Given the description of an element on the screen output the (x, y) to click on. 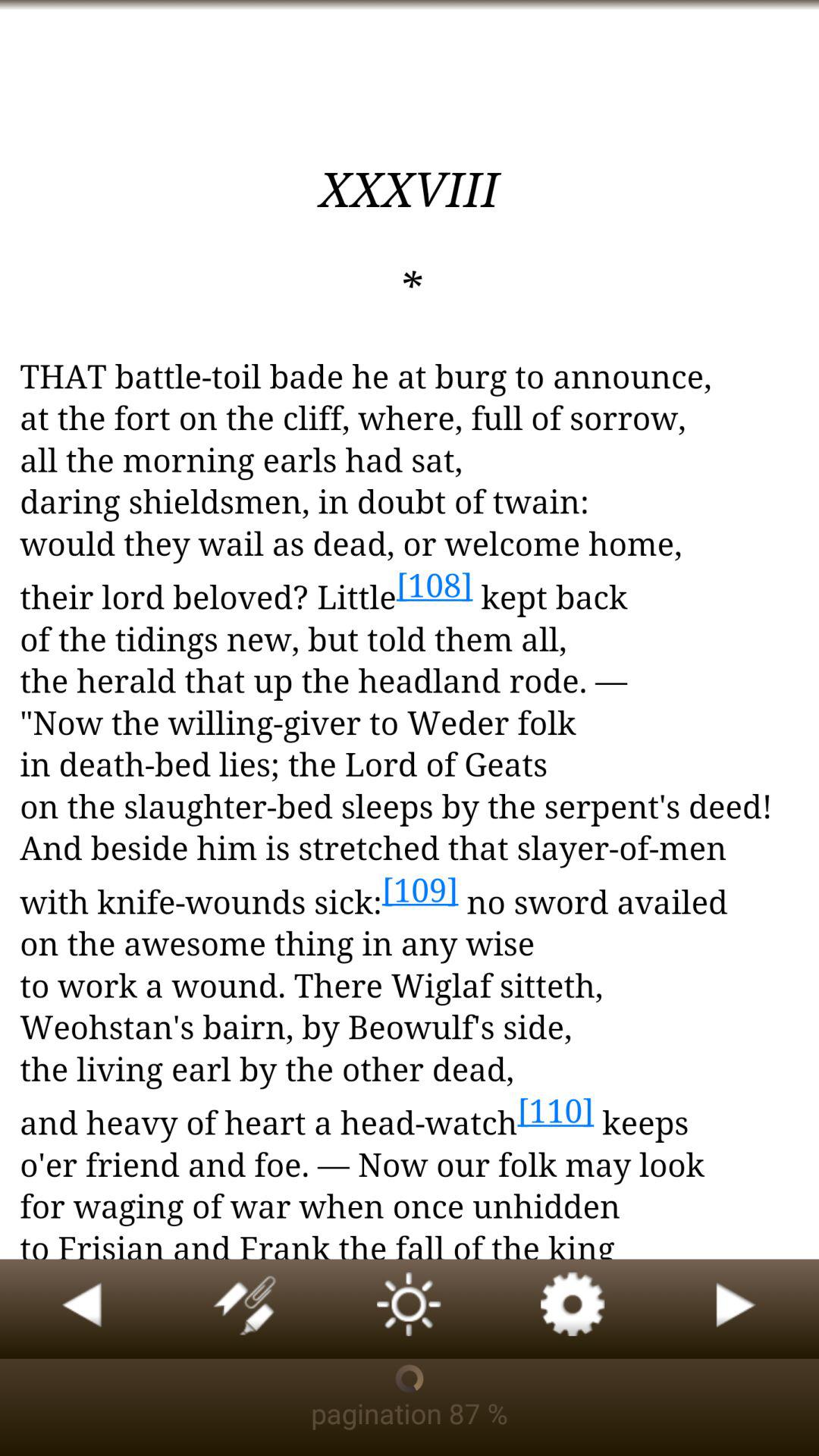
go to previous (81, 1308)
